Given the description of an element on the screen output the (x, y) to click on. 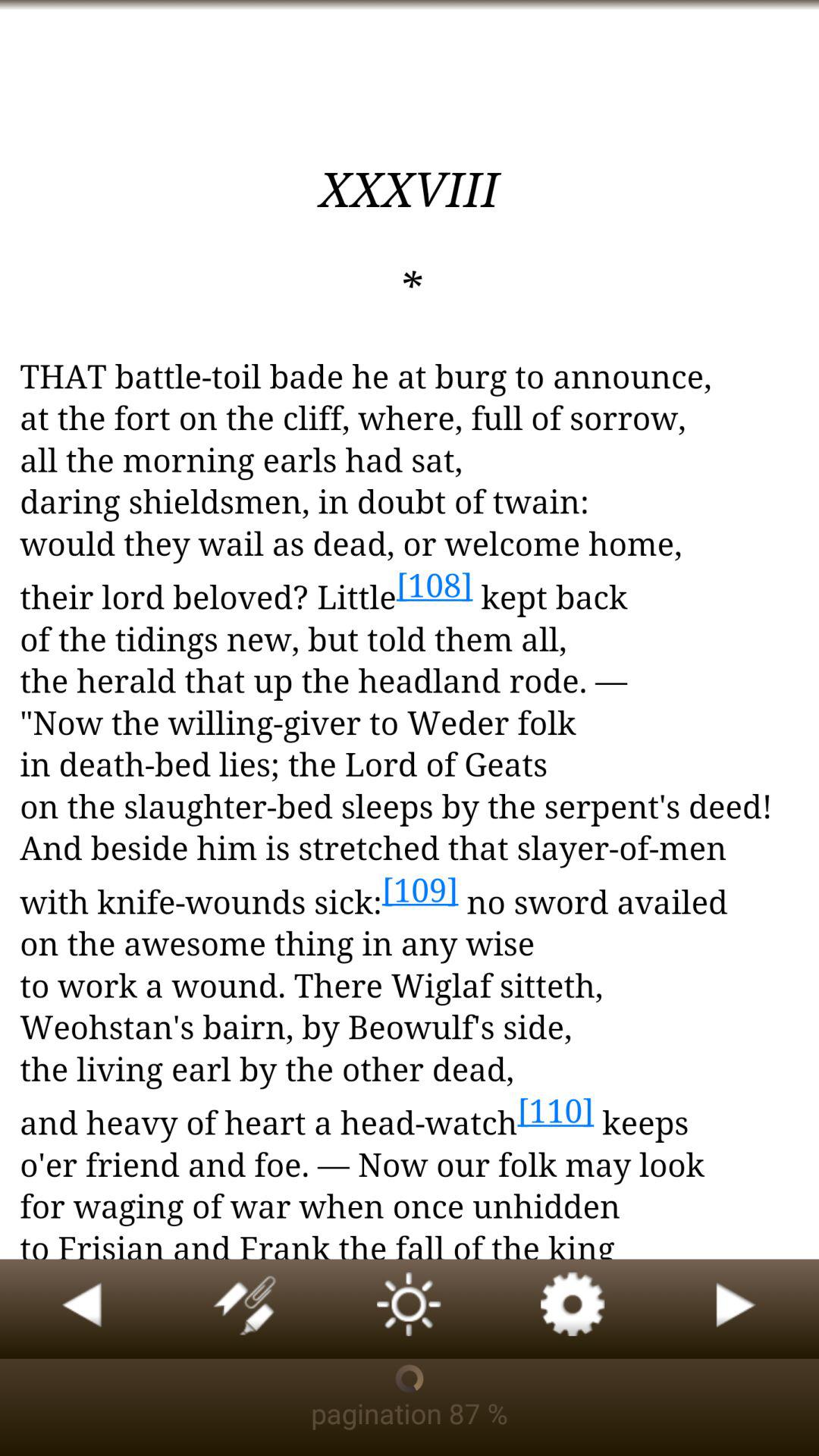
go to previous (81, 1308)
